Given the description of an element on the screen output the (x, y) to click on. 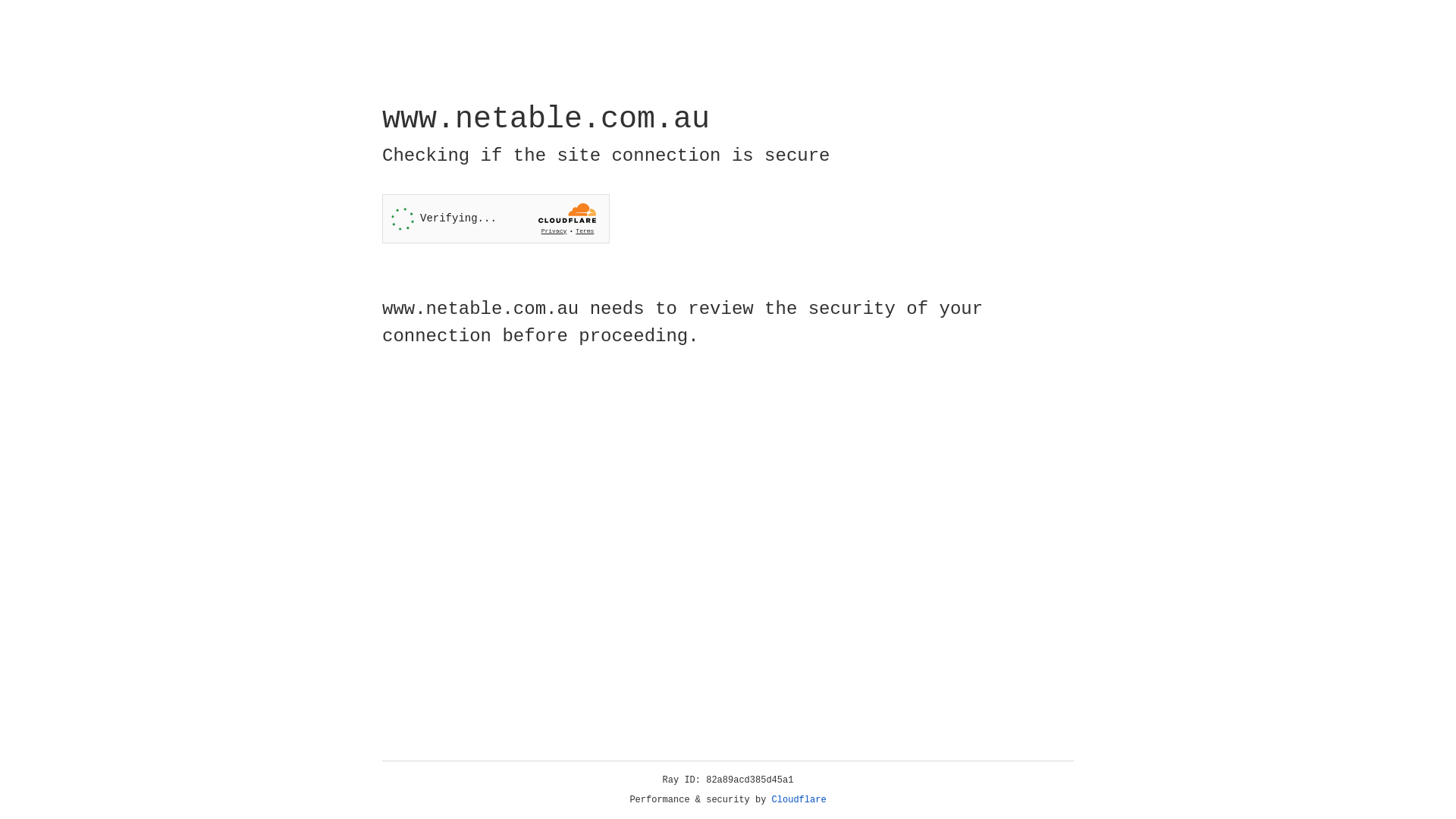
Widget containing a Cloudflare security challenge Element type: hover (495, 218)
Cloudflare Element type: text (798, 799)
